Given the description of an element on the screen output the (x, y) to click on. 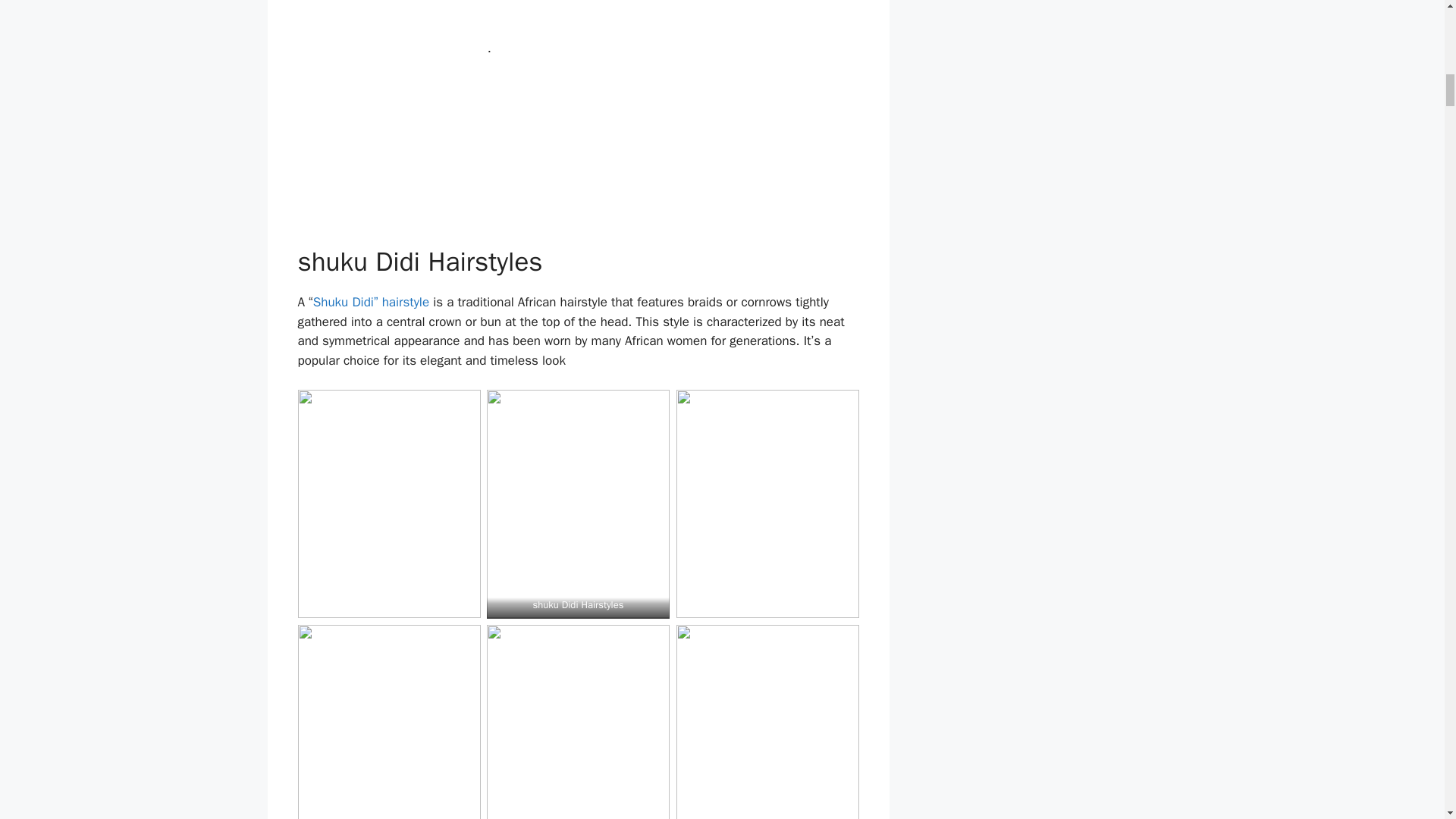
Ghana Shuku Braids: The Ultimate Style Statement For Women (372, 302)
